Given the description of an element on the screen output the (x, y) to click on. 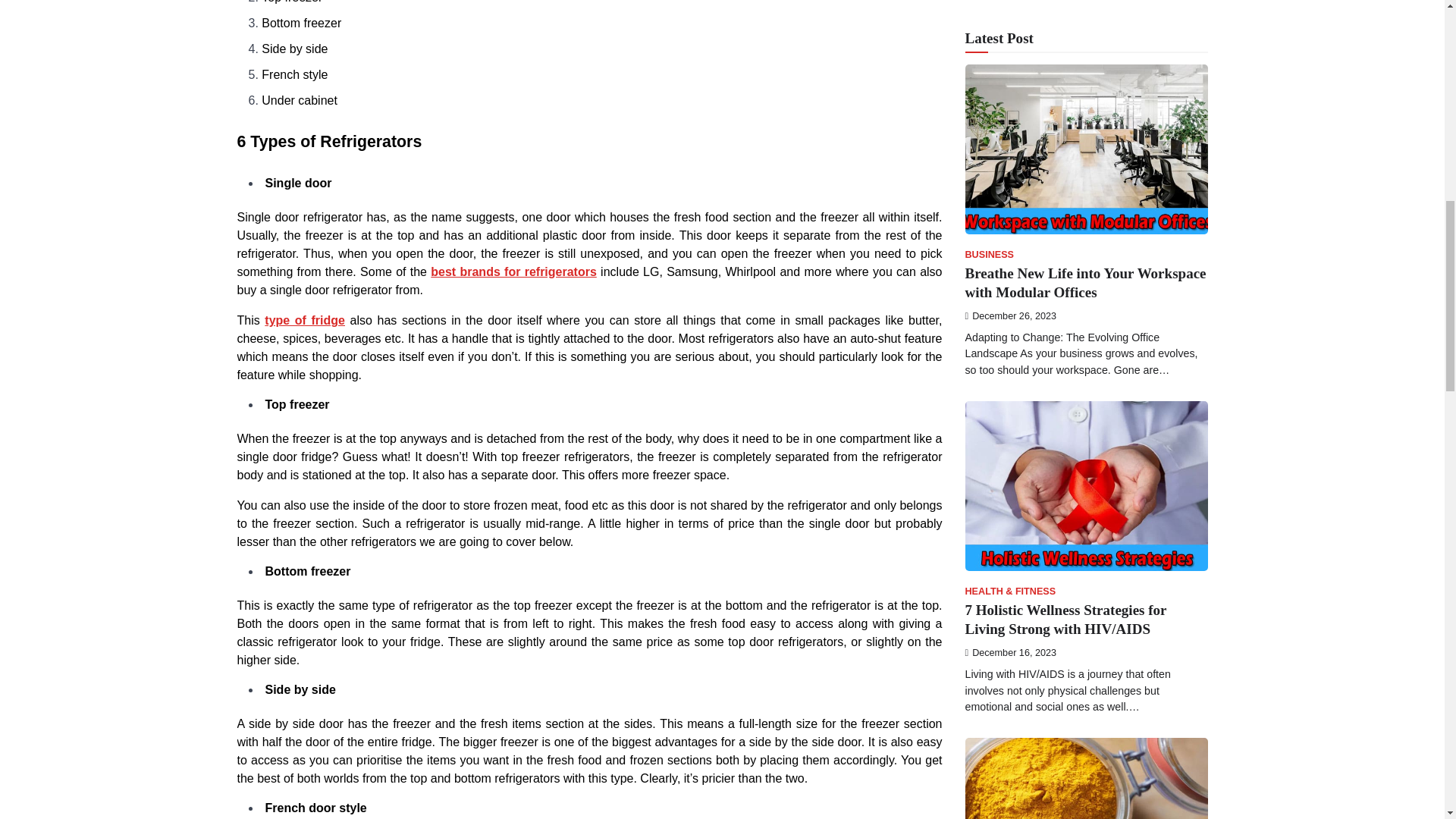
7 Natural Pain Relief Methods You Need to Try (1071, 307)
HEALTH CARE (997, 279)
type of fridge (304, 319)
December 16, 2023 (1010, 4)
best brands for refrigerators (513, 271)
